Given the description of an element on the screen output the (x, y) to click on. 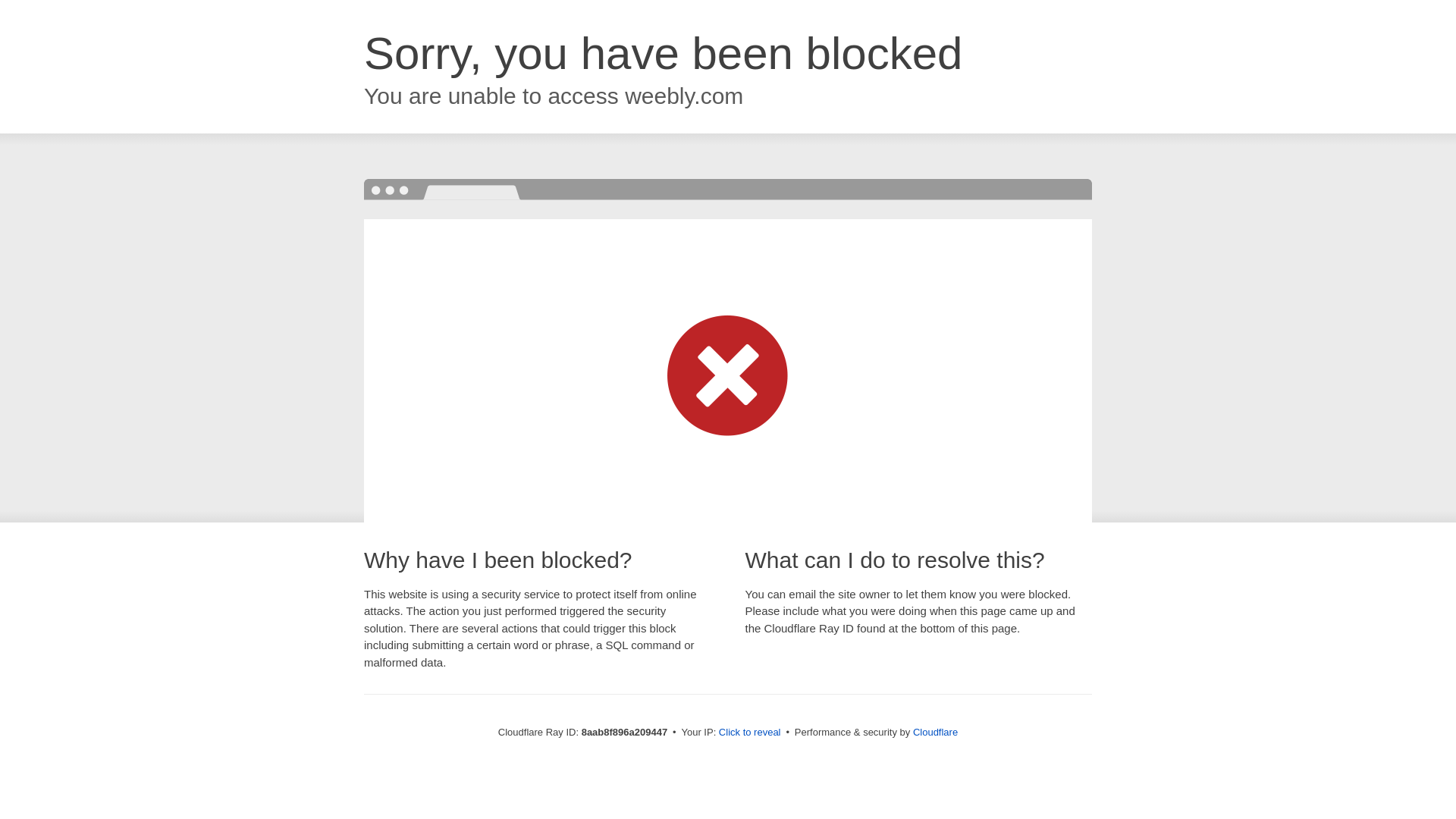
Cloudflare (935, 731)
Click to reveal (749, 732)
